Given the description of an element on the screen output the (x, y) to click on. 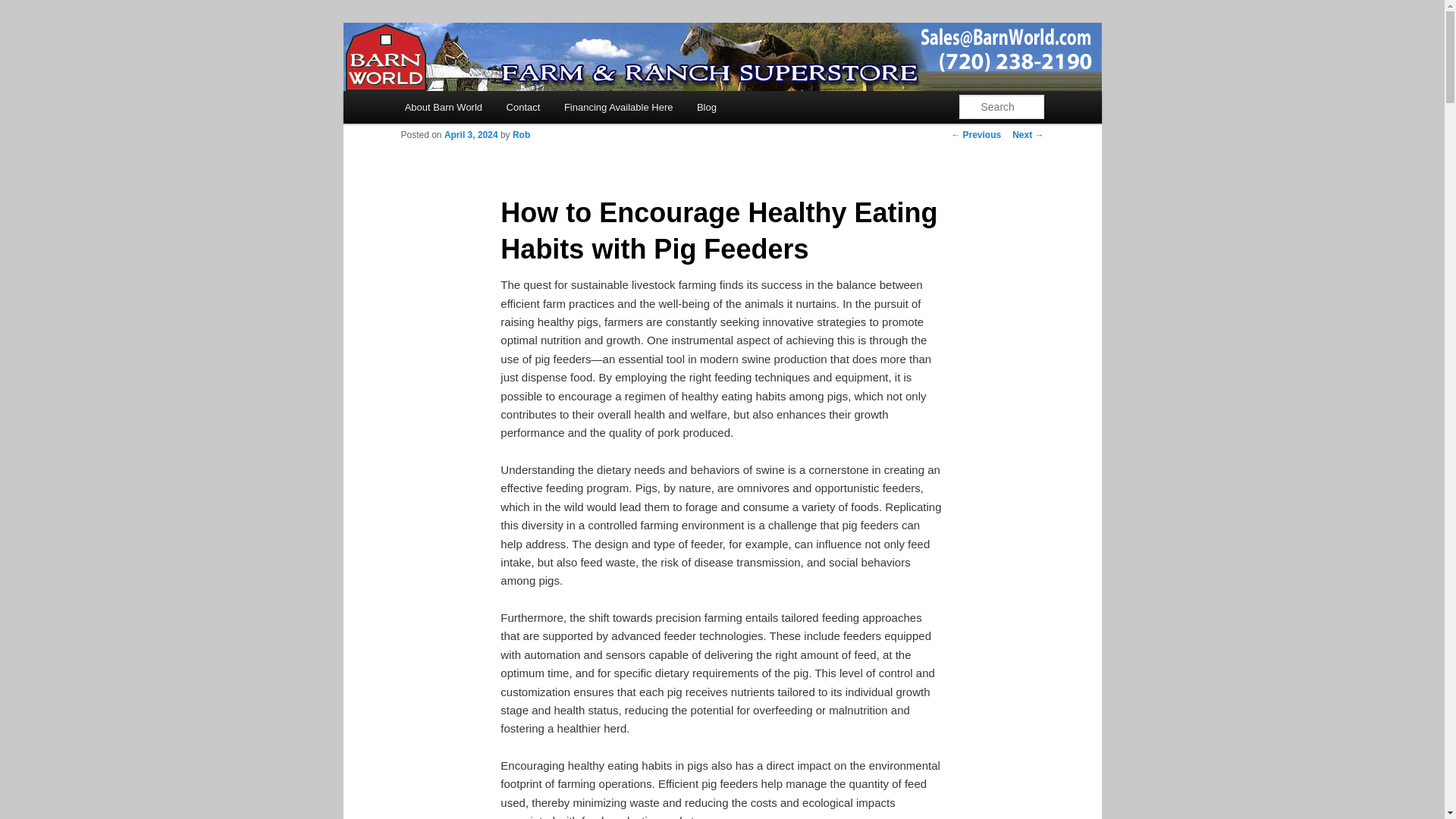
Blog (706, 106)
View all posts by Rob (520, 134)
Financing Available Here (617, 106)
Search (24, 11)
10:08 pm (470, 134)
Financing (617, 106)
April 3, 2024 (470, 134)
About Barn World (444, 106)
Rob (520, 134)
